Given the description of an element on the screen output the (x, y) to click on. 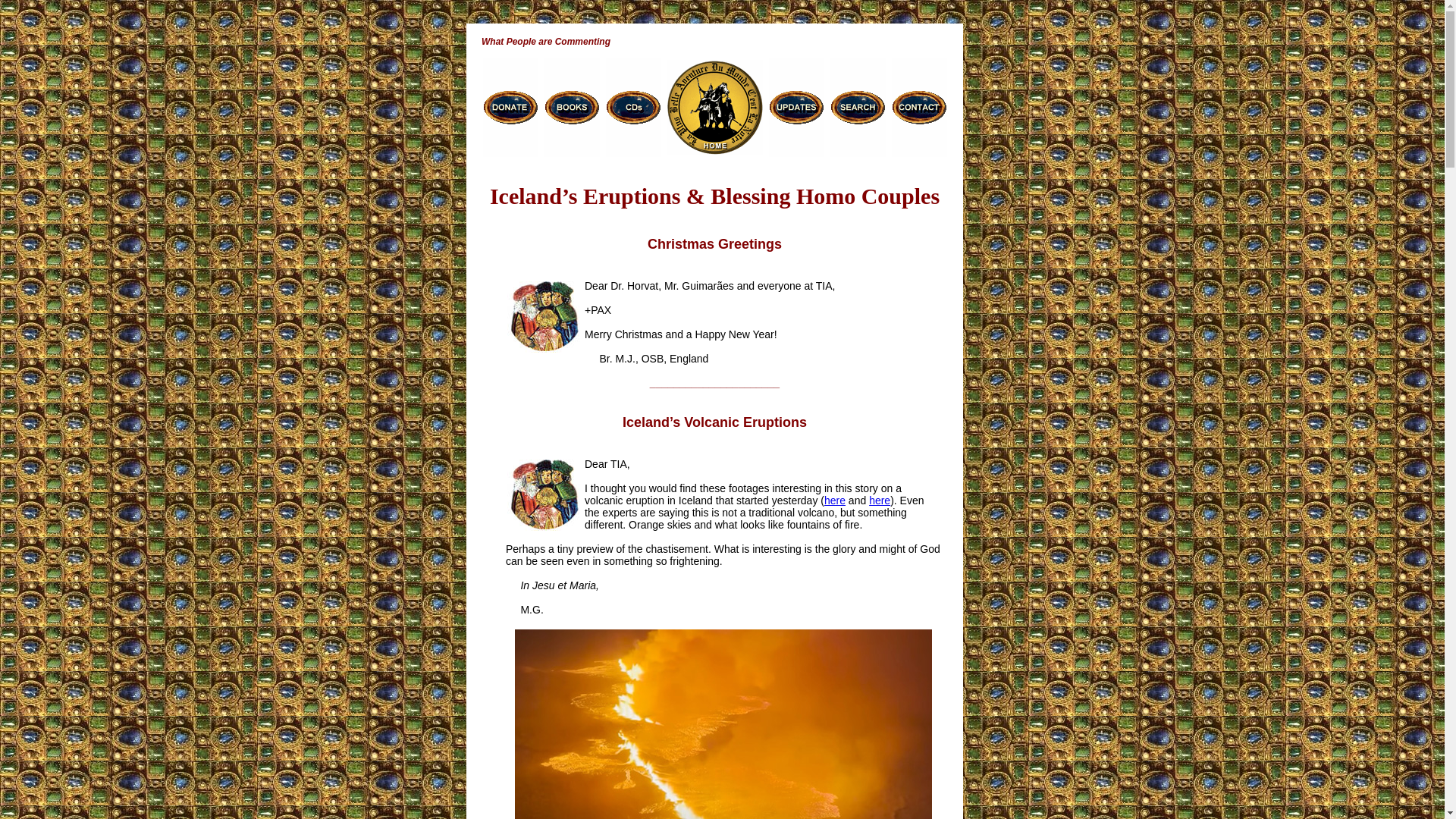
here (834, 500)
here (879, 500)
